Given the description of an element on the screen output the (x, y) to click on. 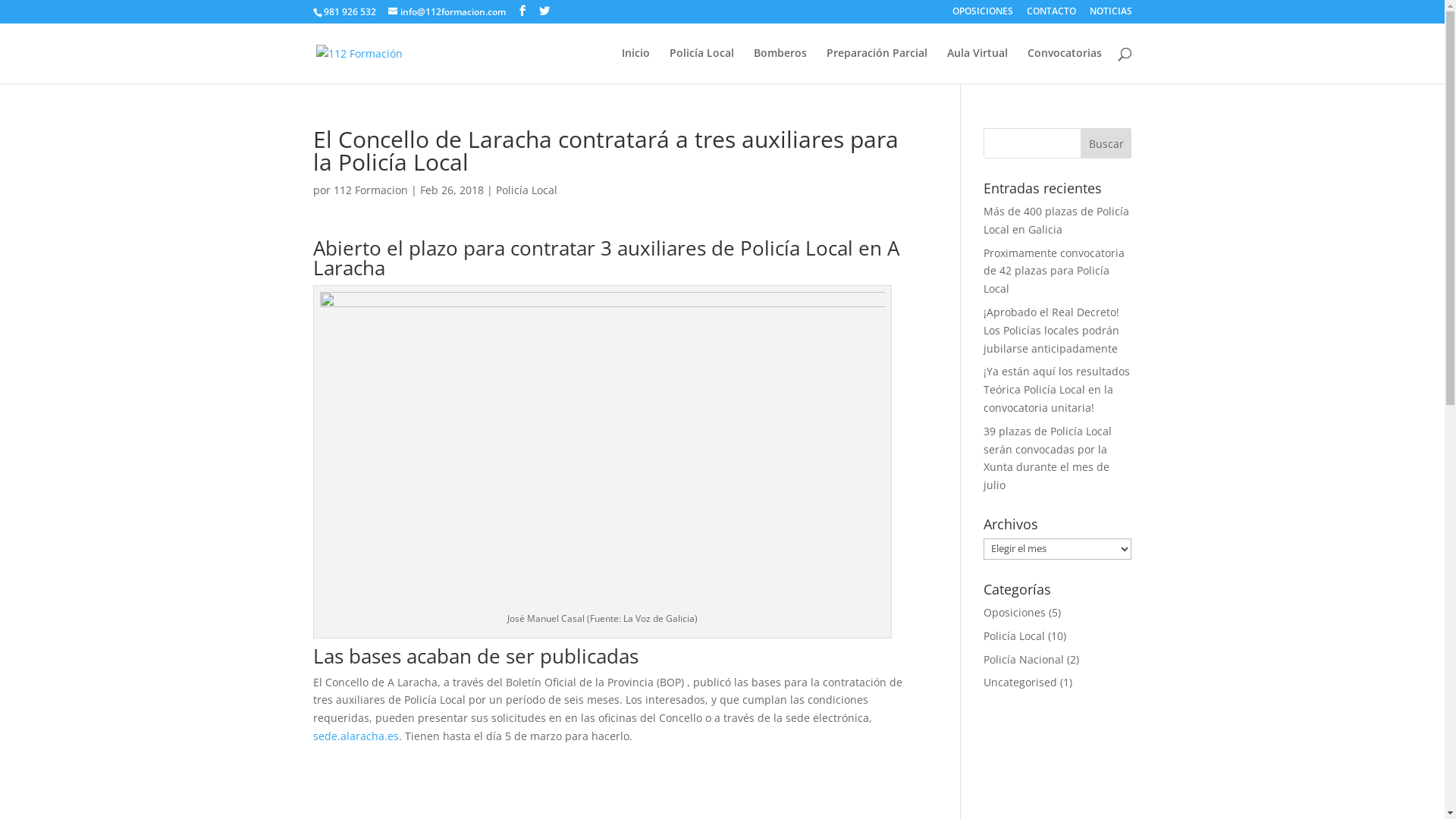
NOTICIAS Element type: text (1109, 14)
CONTACTO Element type: text (1051, 14)
info@112formacion.com Element type: text (446, 11)
112 Formacion Element type: text (370, 189)
Buscar Element type: text (1106, 143)
Inicio Element type: text (635, 65)
sede.alaracha.es Element type: text (355, 735)
Oposiciones Element type: text (1014, 612)
Convocatorias Element type: text (1063, 65)
Aula Virtual Element type: text (976, 65)
OPOSICIONES Element type: text (982, 14)
Bomberos Element type: text (779, 65)
Uncategorised Element type: text (1020, 681)
